Given the description of an element on the screen output the (x, y) to click on. 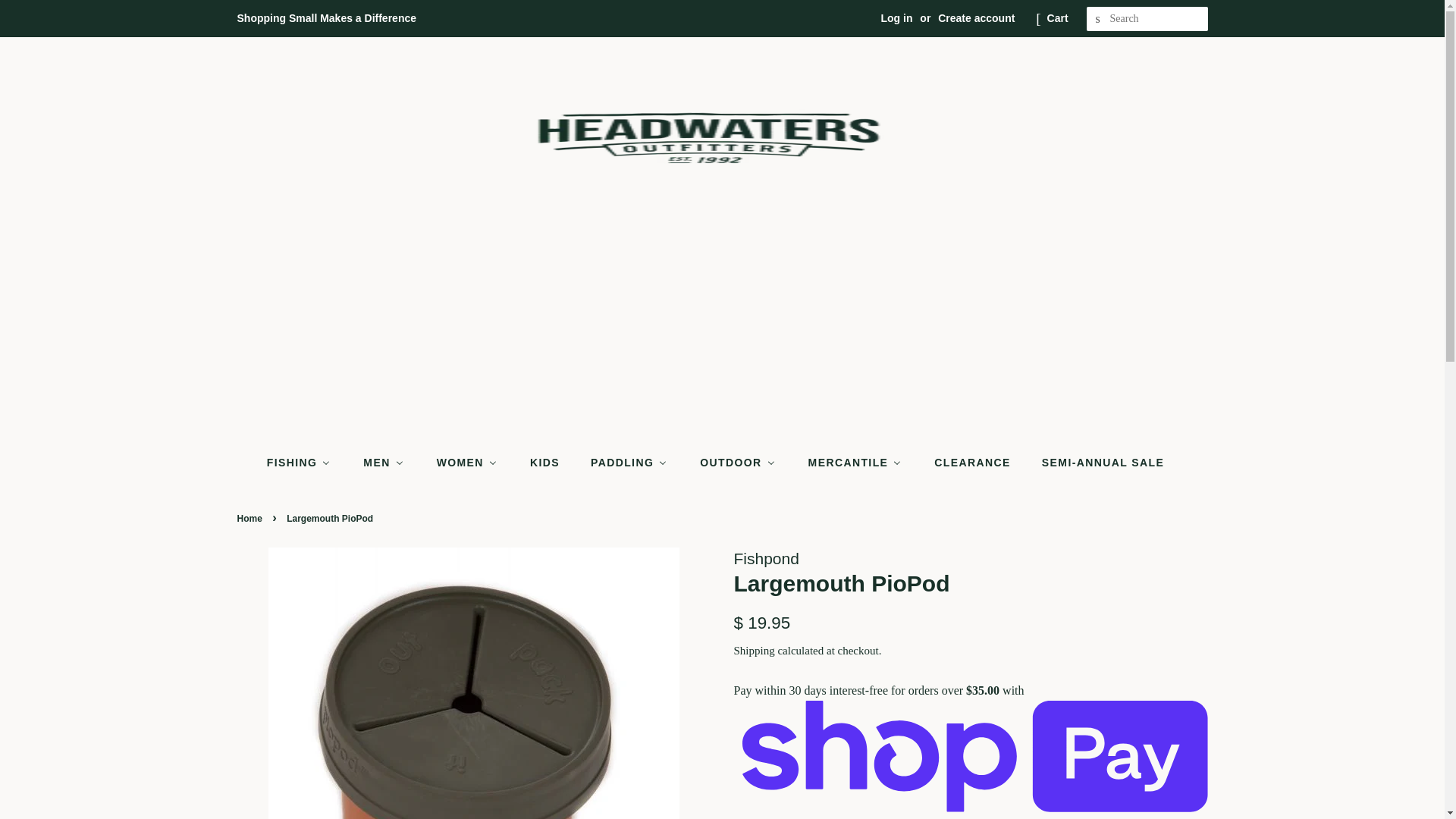
Log in (896, 18)
SEARCH (1097, 18)
Create account (975, 18)
Cart (1057, 18)
